Given the description of an element on the screen output the (x, y) to click on. 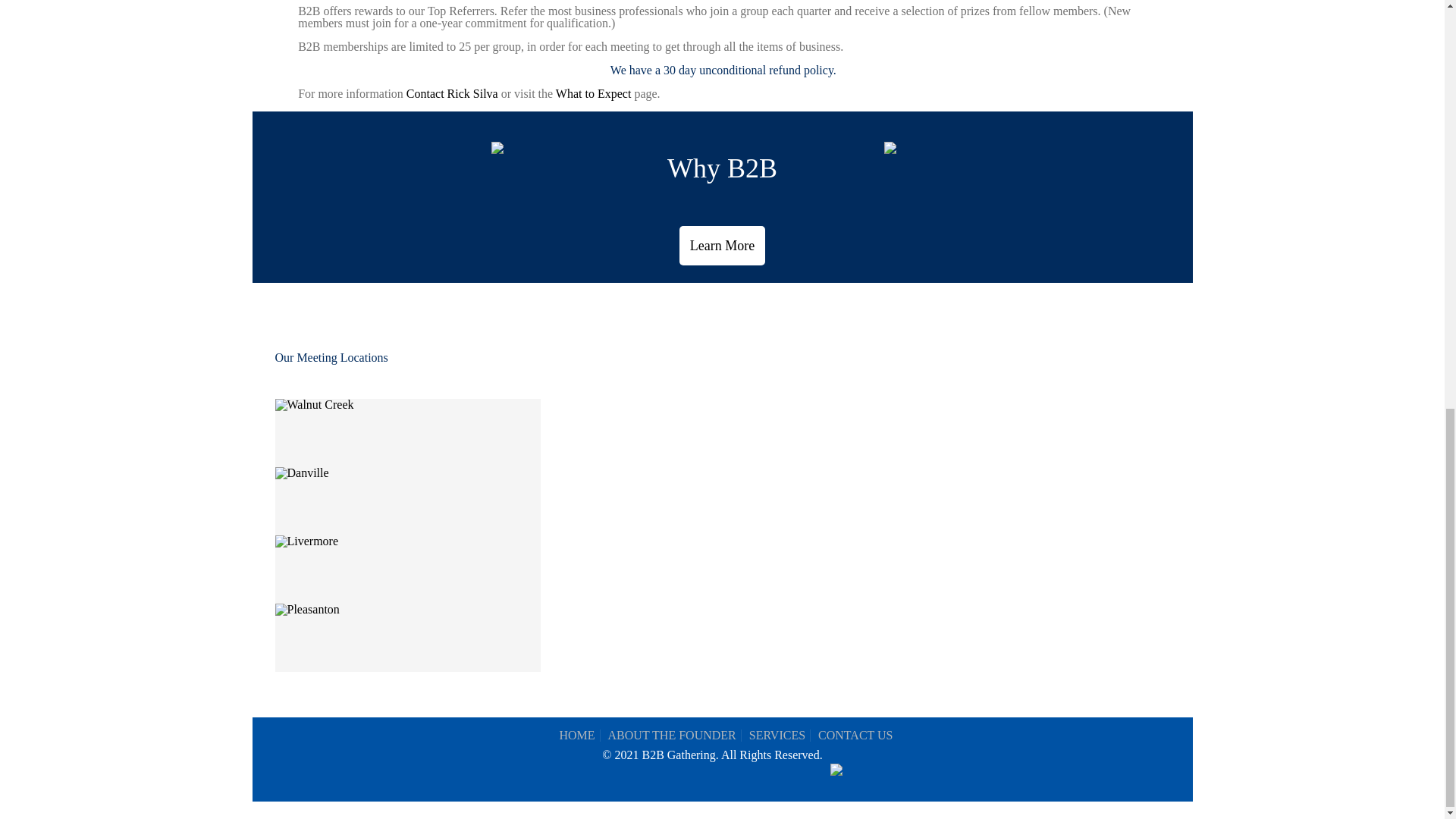
Learn More (722, 245)
CONTACT US (855, 735)
Danville (302, 472)
Pleasanton (307, 609)
Walnut Creek (314, 404)
SERVICES (777, 735)
ABOUT THE FOUNDER (672, 735)
Livermore (306, 541)
Contact Rick Silva (451, 92)
HOME (576, 735)
